Given the description of an element on the screen output the (x, y) to click on. 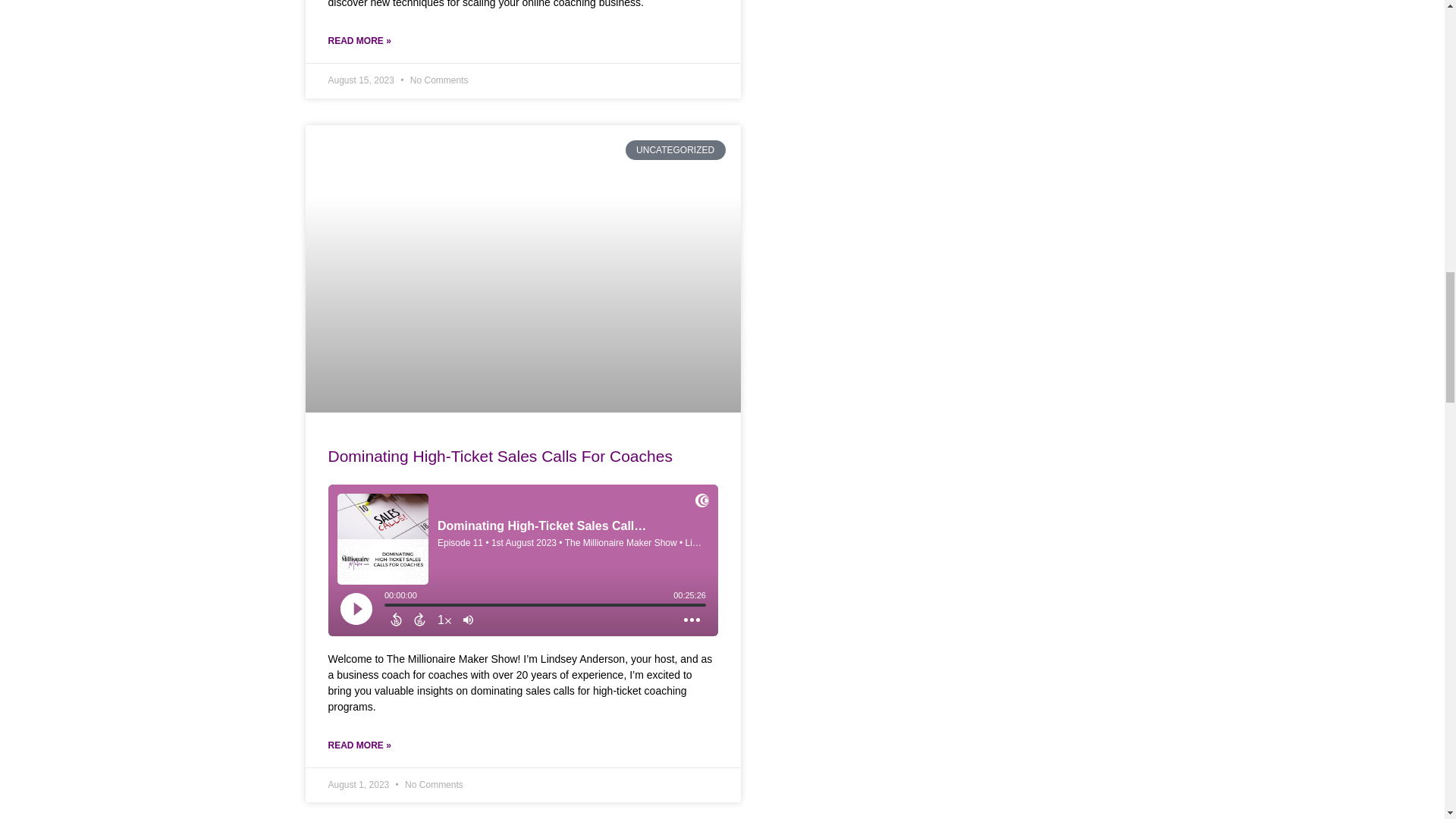
Dominating High-Ticket Sales Calls For Coaches (499, 456)
